Given the description of an element on the screen output the (x, y) to click on. 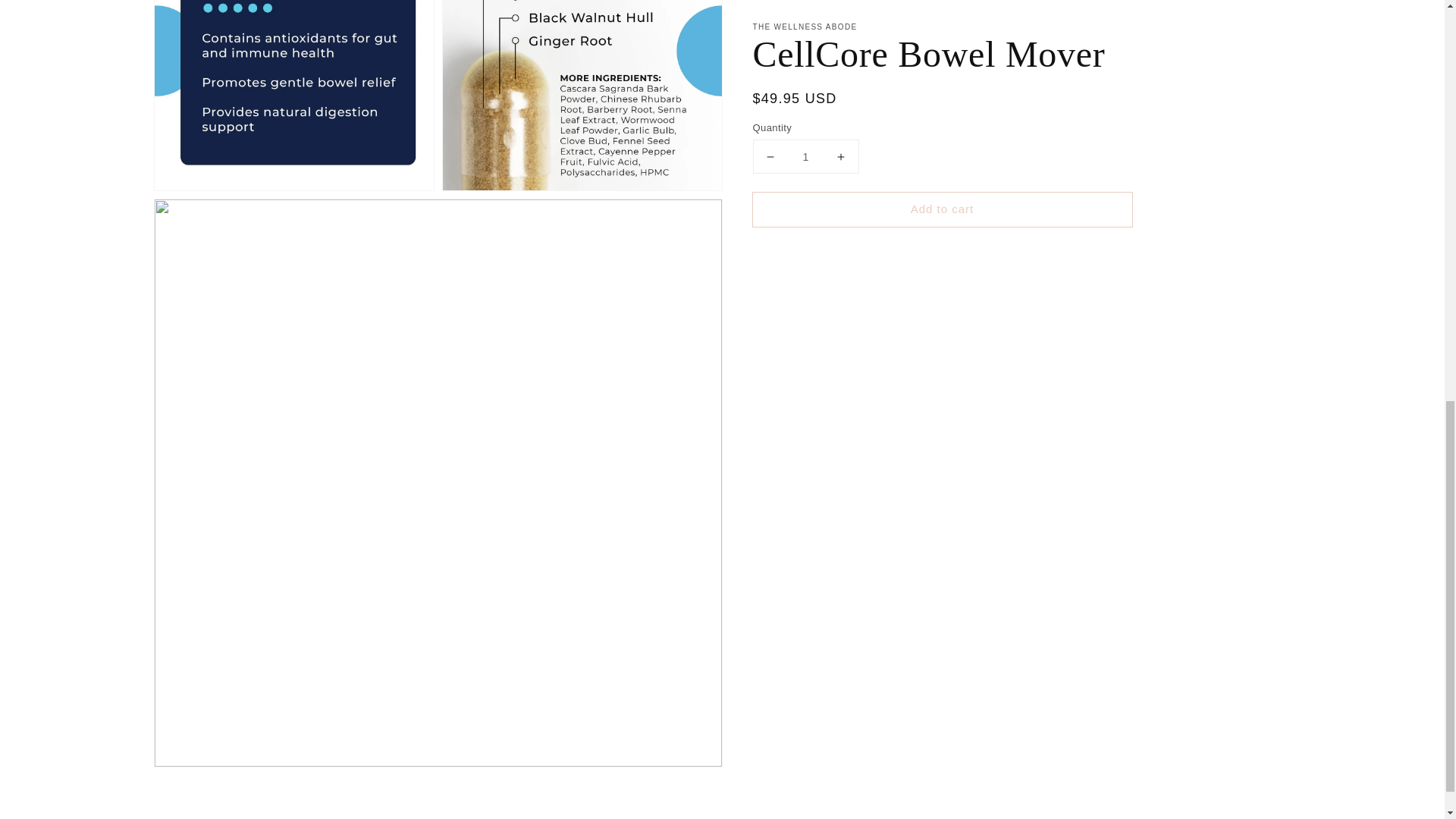
Open media 2 in gallery view (293, 95)
Open media 3 in gallery view (582, 95)
